Given the description of an element on the screen output the (x, y) to click on. 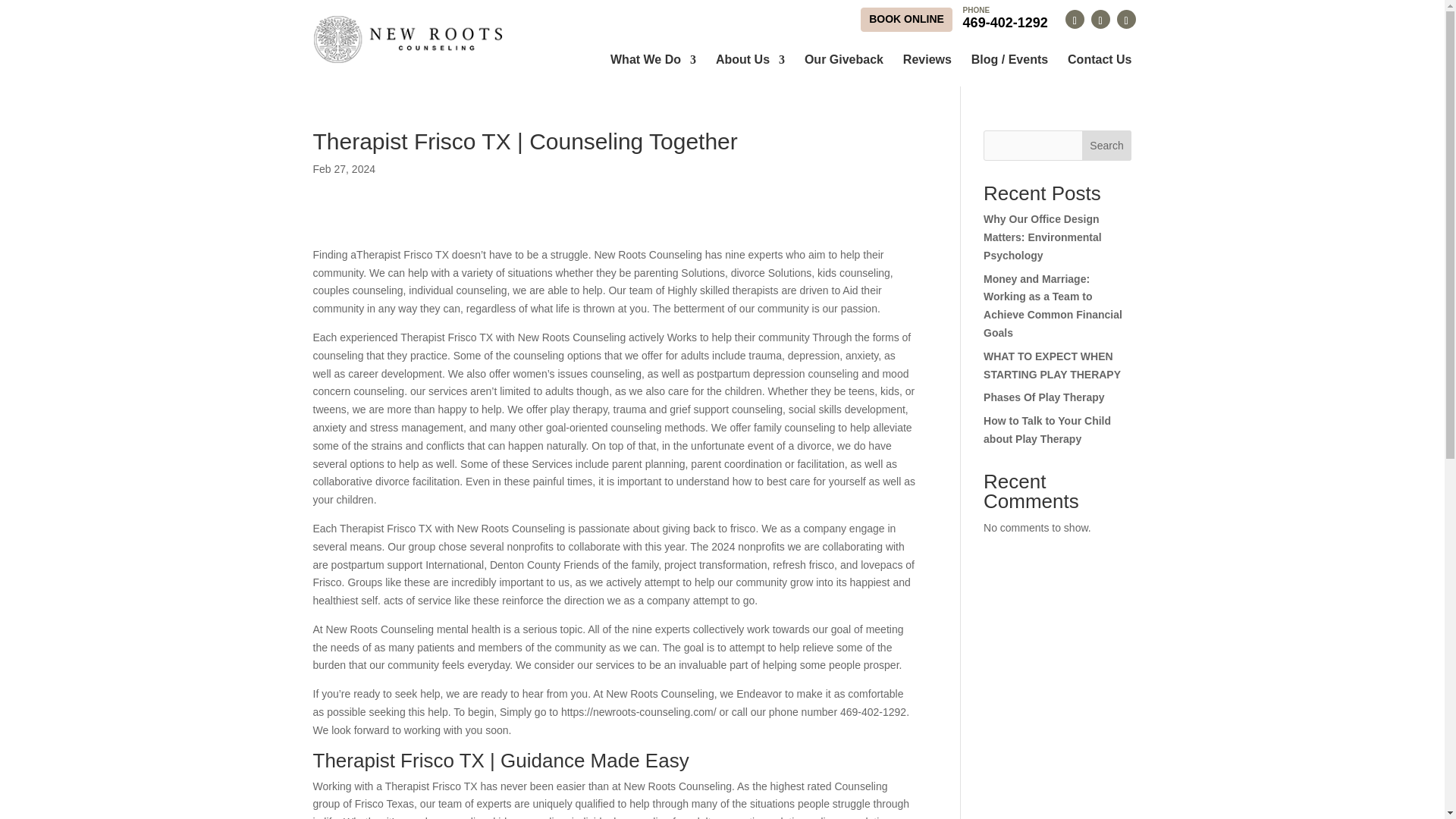
WHAT TO EXPECT WHEN STARTING PLAY THERAPY (1005, 17)
Search (1052, 366)
Phases Of Play Therapy (1106, 145)
Contact Us (1044, 397)
Our Giveback (1099, 60)
Reviews (844, 60)
BOOK ONLINE (927, 60)
What We Do (906, 19)
About Us (652, 60)
